Given the description of an element on the screen output the (x, y) to click on. 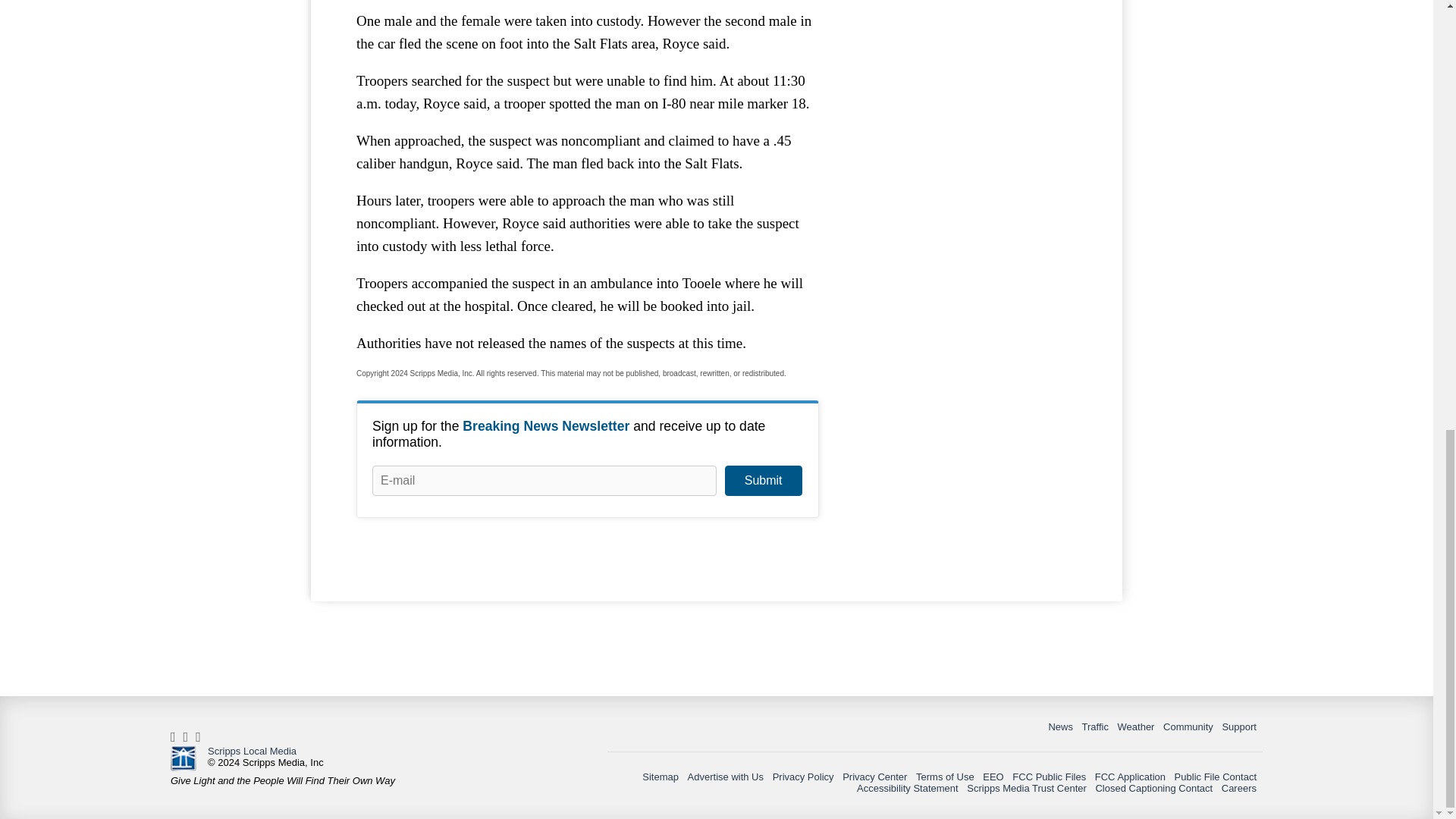
Submit (763, 481)
